Given the description of an element on the screen output the (x, y) to click on. 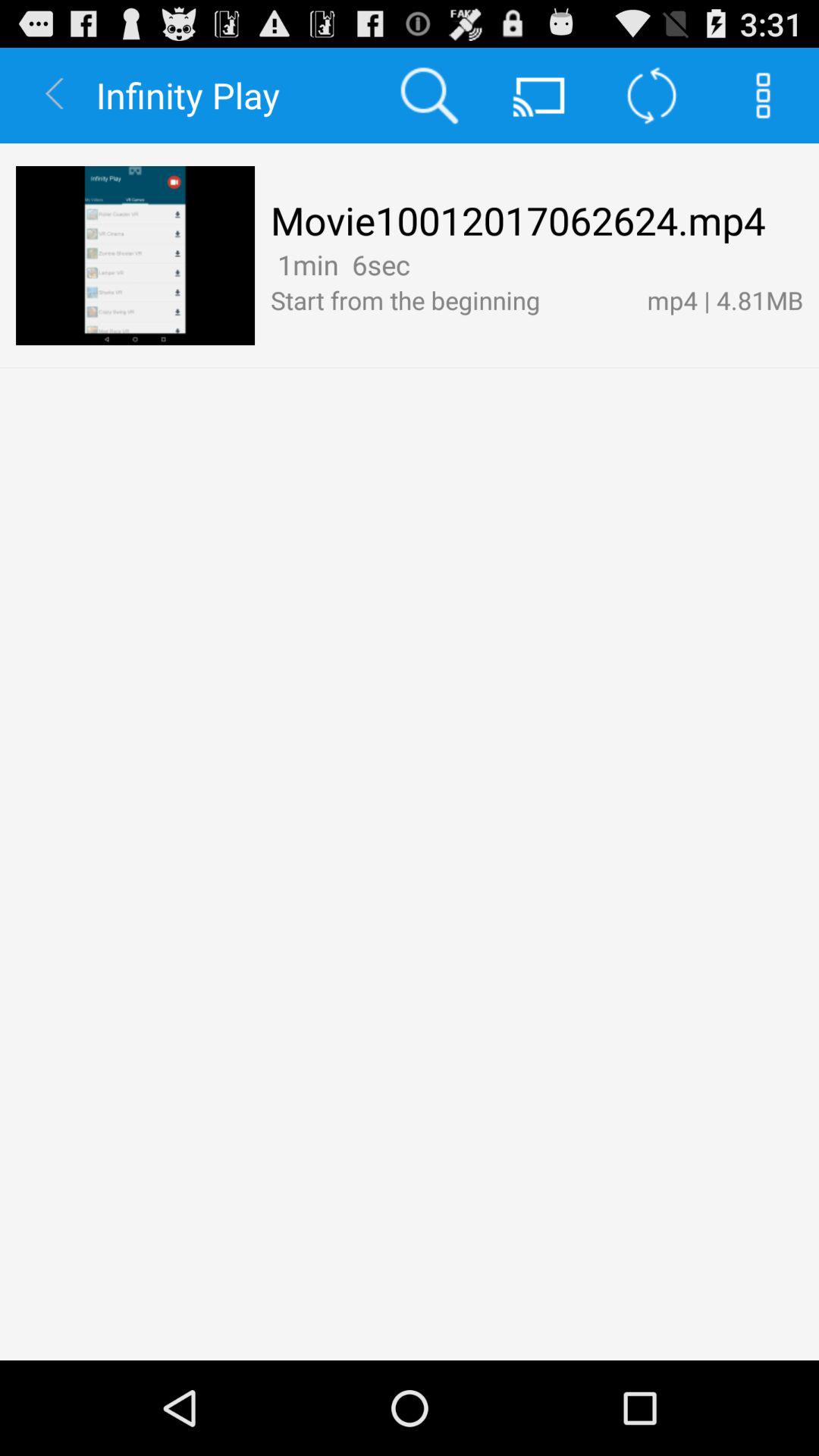
select the item next to infinity play icon (428, 95)
